Given the description of an element on the screen output the (x, y) to click on. 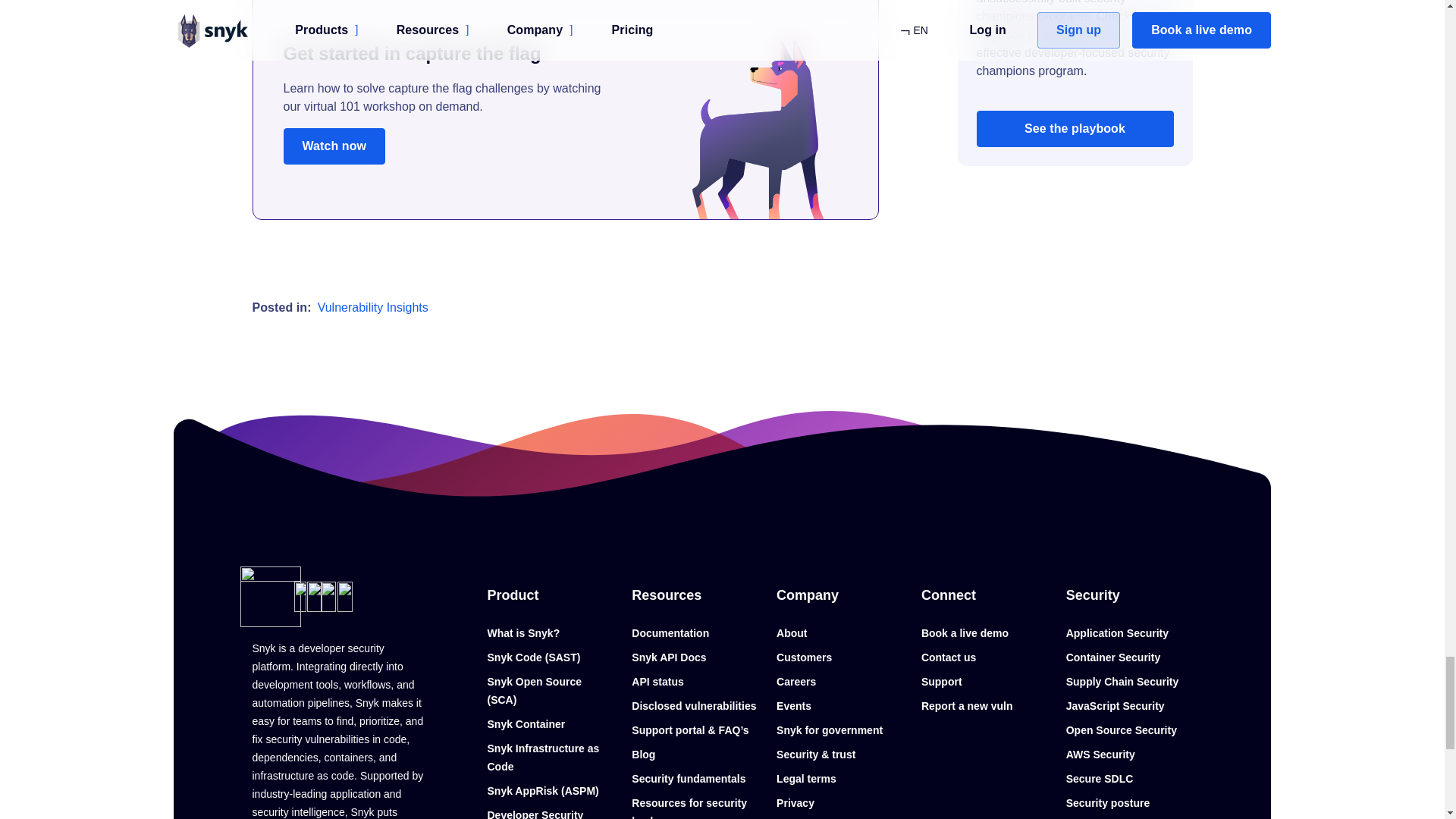
Watch now (334, 145)
